Given the description of an element on the screen output the (x, y) to click on. 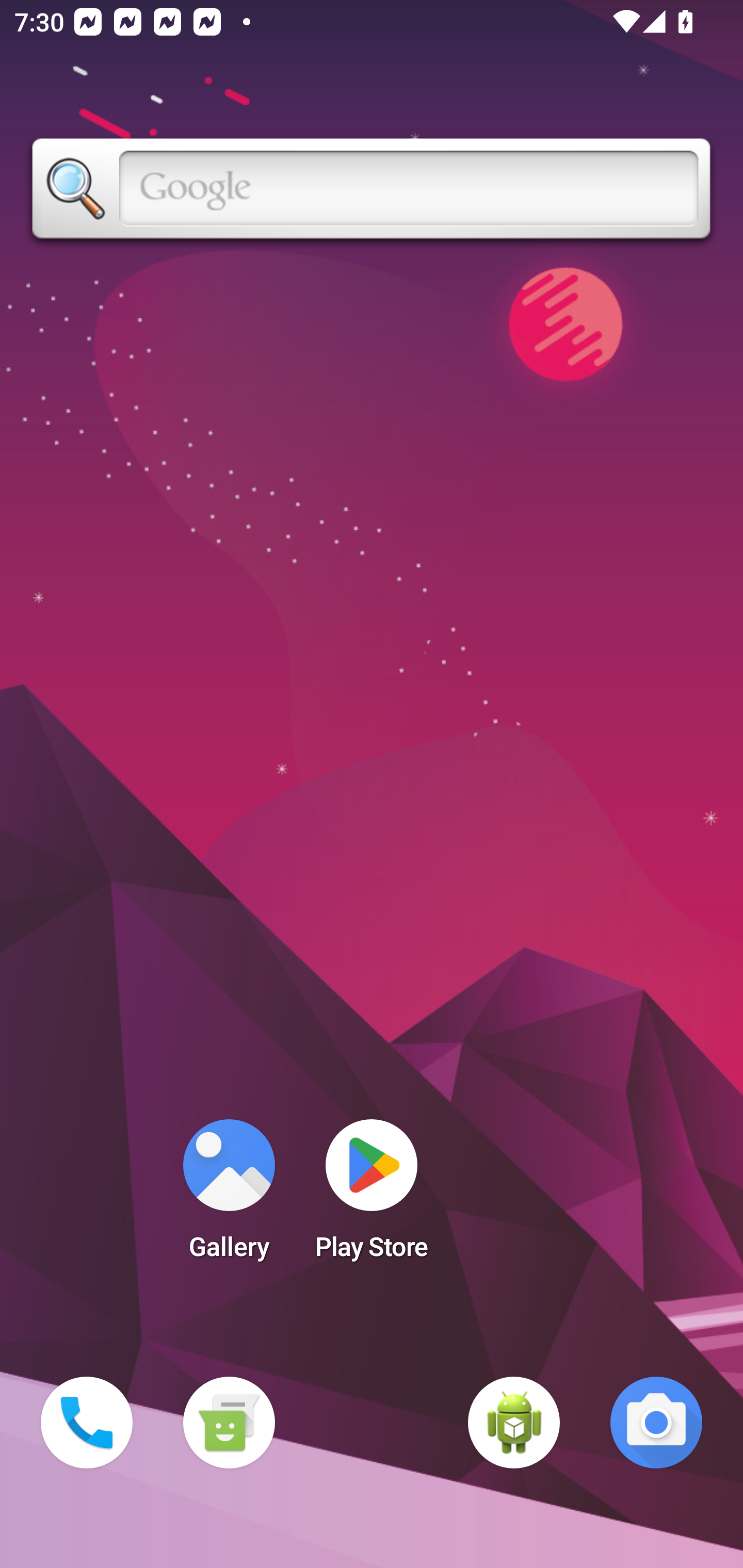
Gallery (228, 1195)
Play Store (371, 1195)
Phone (86, 1422)
Messaging (228, 1422)
WebView Browser Tester (513, 1422)
Camera (656, 1422)
